Given the description of an element on the screen output the (x, y) to click on. 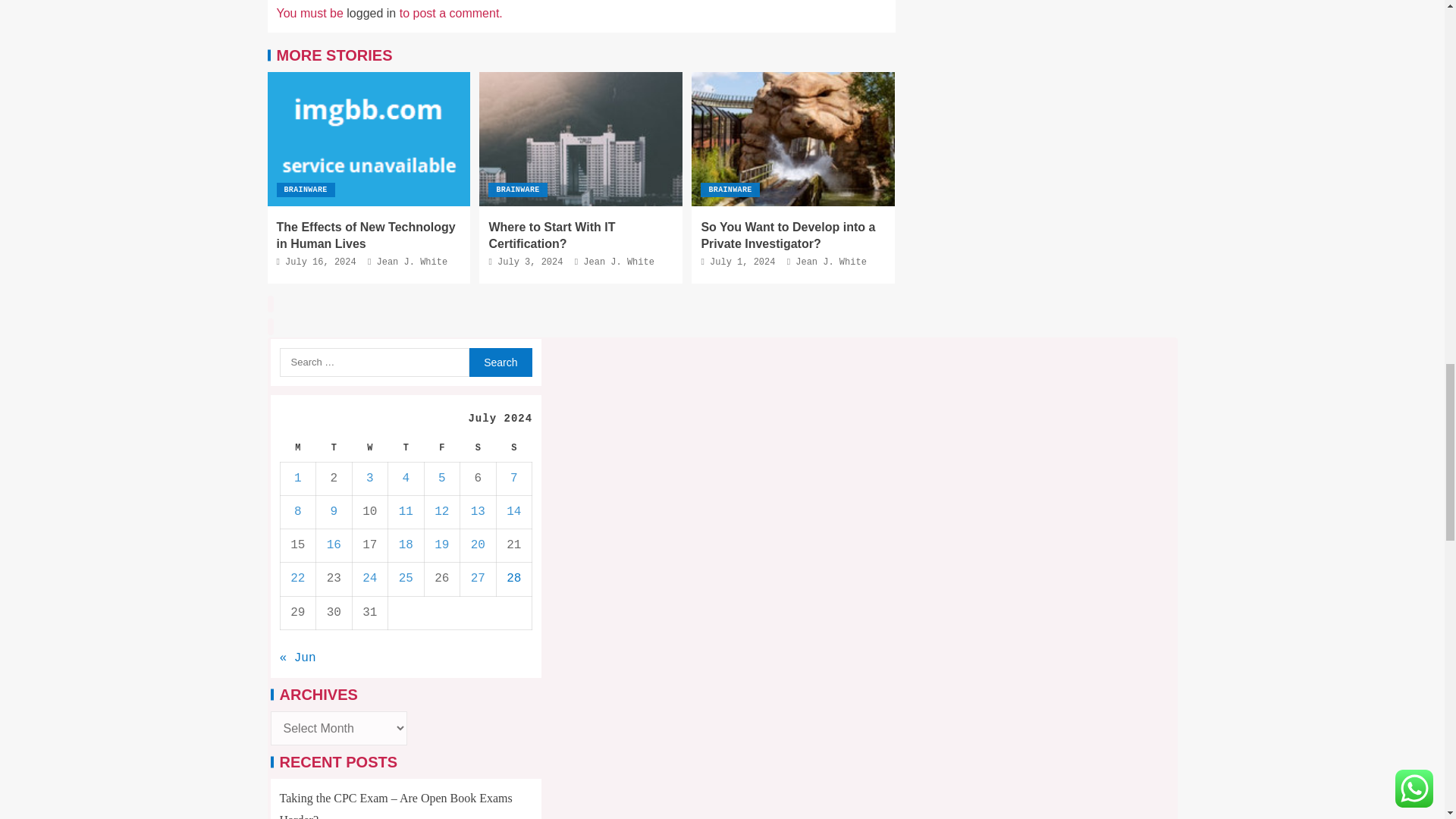
Where to Start With IT Certification? (550, 234)
Wednesday (370, 447)
So You Want to Develop into a Private Investigator? (793, 139)
Monday (297, 447)
logged in (371, 12)
Jean J. White (412, 262)
Thursday (406, 447)
Friday (441, 447)
Tuesday (333, 447)
The Effects of New Technology in Human Lives (368, 139)
BRAINWARE (305, 189)
BRAINWARE (517, 189)
Search (500, 362)
Sunday (514, 447)
The Effects of New Technology in Human Lives (365, 234)
